Given the description of an element on the screen output the (x, y) to click on. 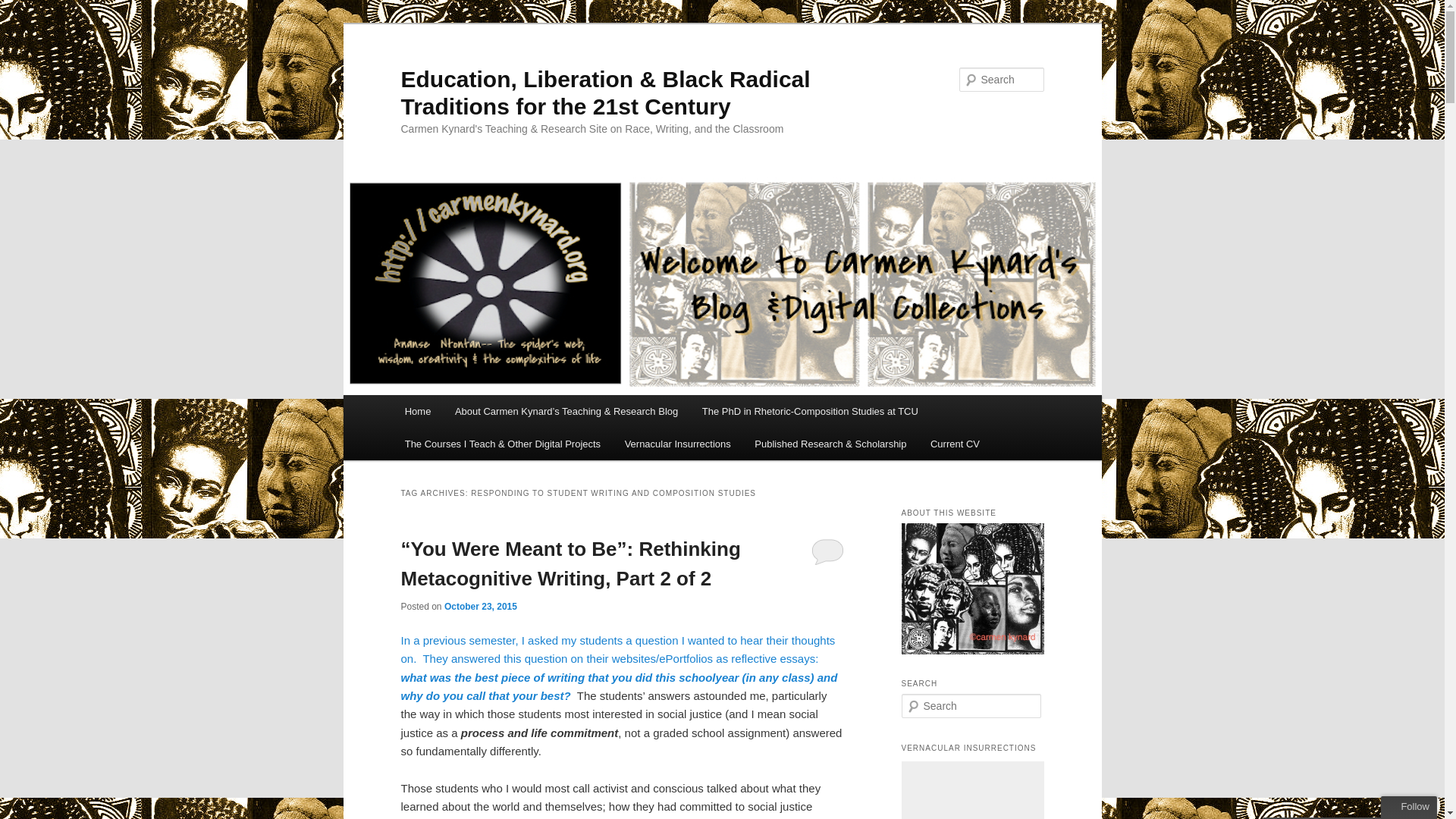
Vernacular Insurrections (677, 443)
11:23 pm (480, 606)
Current CV (954, 443)
The PhD in Rhetoric-Composition Studies at TCU (810, 410)
Search (24, 8)
October 23, 2015 (480, 606)
Home (417, 410)
